Given the description of an element on the screen output the (x, y) to click on. 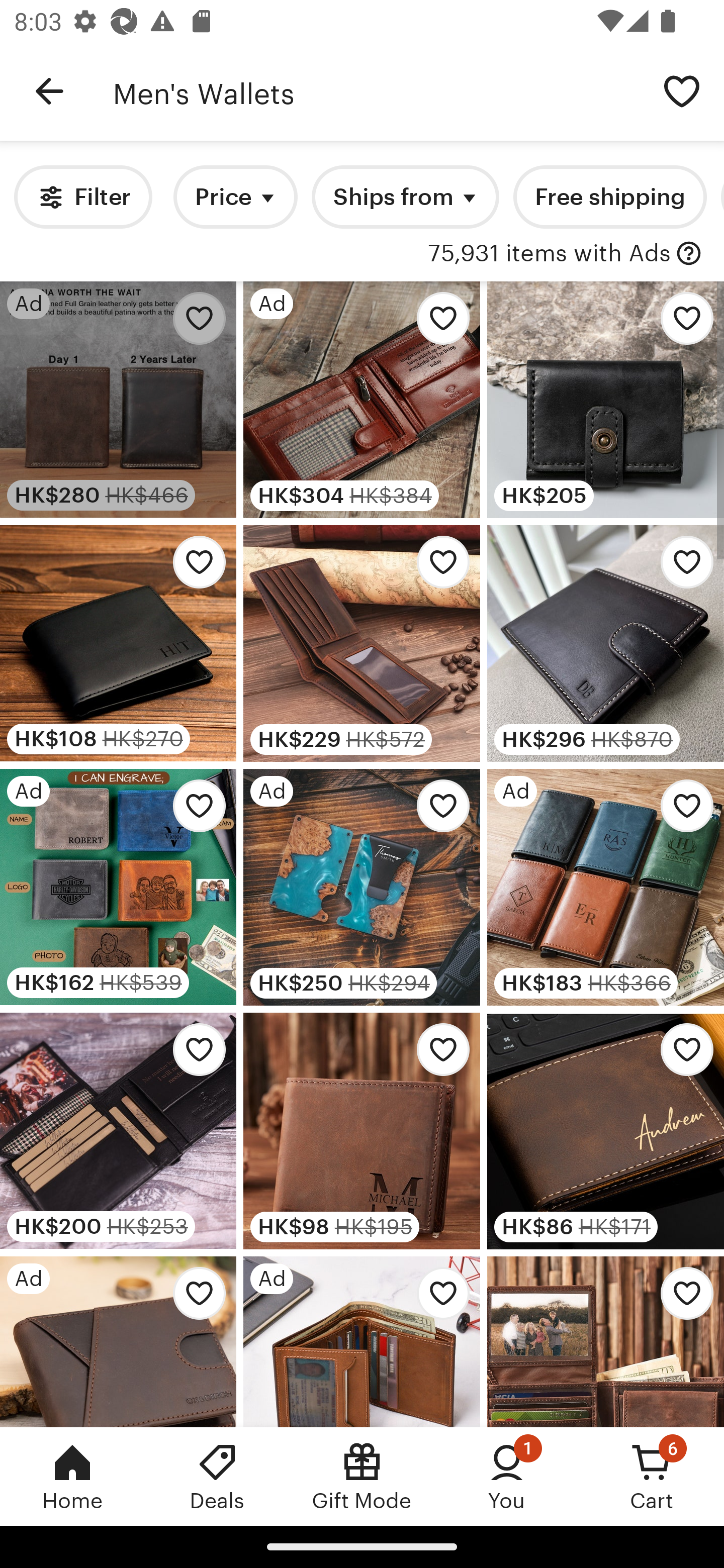
Navigate up (49, 91)
Save search (681, 90)
Men's Wallets (375, 91)
Filter (82, 197)
Price (235, 197)
Ships from (405, 197)
Free shipping (609, 197)
75,931 items with Ads (549, 253)
with Ads (688, 253)
Deals (216, 1475)
Gift Mode (361, 1475)
You, 1 new notification You (506, 1475)
Cart, 6 new notifications Cart (651, 1475)
